Given the description of an element on the screen output the (x, y) to click on. 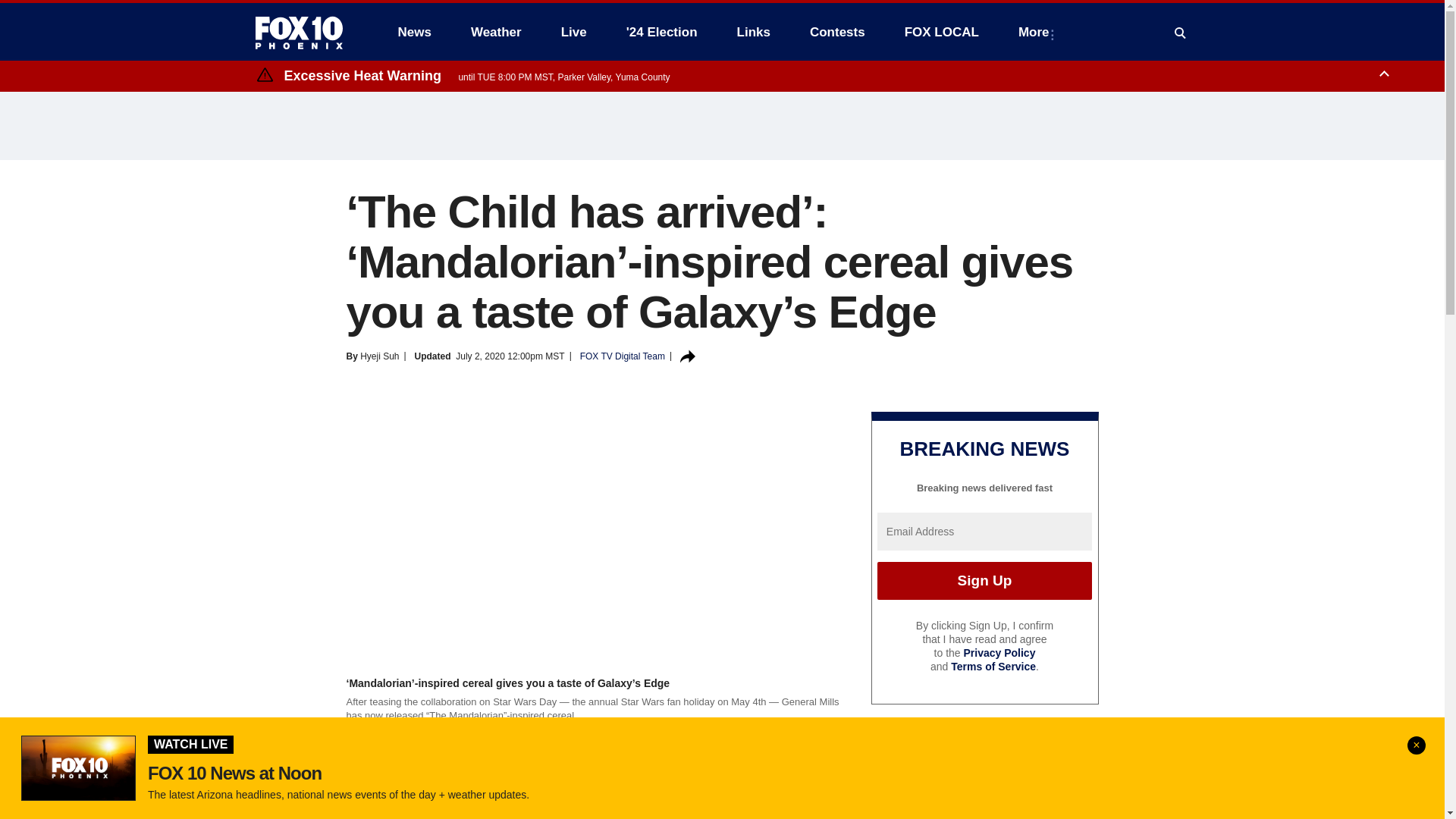
More (1036, 32)
Links (754, 32)
Sign Up (984, 580)
Weather (496, 32)
Contests (837, 32)
FOX LOCAL (941, 32)
Live (573, 32)
'24 Election (662, 32)
News (413, 32)
